Given the description of an element on the screen output the (x, y) to click on. 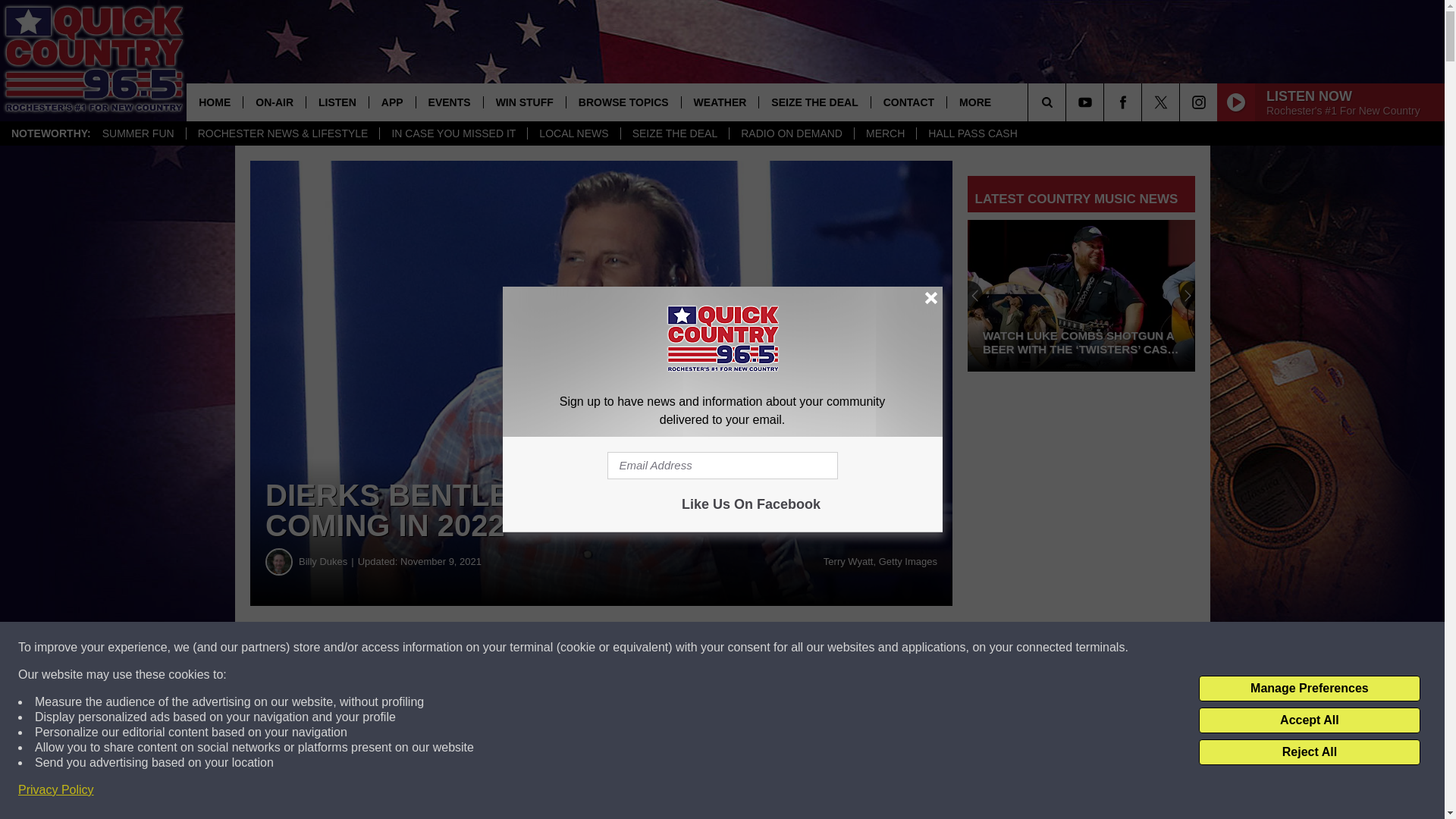
EVENTS (448, 102)
LISTEN (336, 102)
Accept All (1309, 720)
HOME (214, 102)
LOCAL NEWS (573, 133)
SUMMER FUN (138, 133)
MERCH (884, 133)
Manage Preferences (1309, 688)
Privacy Policy (55, 789)
HALL PASS CASH (972, 133)
IN CASE YOU MISSED IT (452, 133)
Share on Twitter (741, 647)
SEIZE THE DEAL (674, 133)
SEARCH (1068, 102)
APP (391, 102)
